Given the description of an element on the screen output the (x, y) to click on. 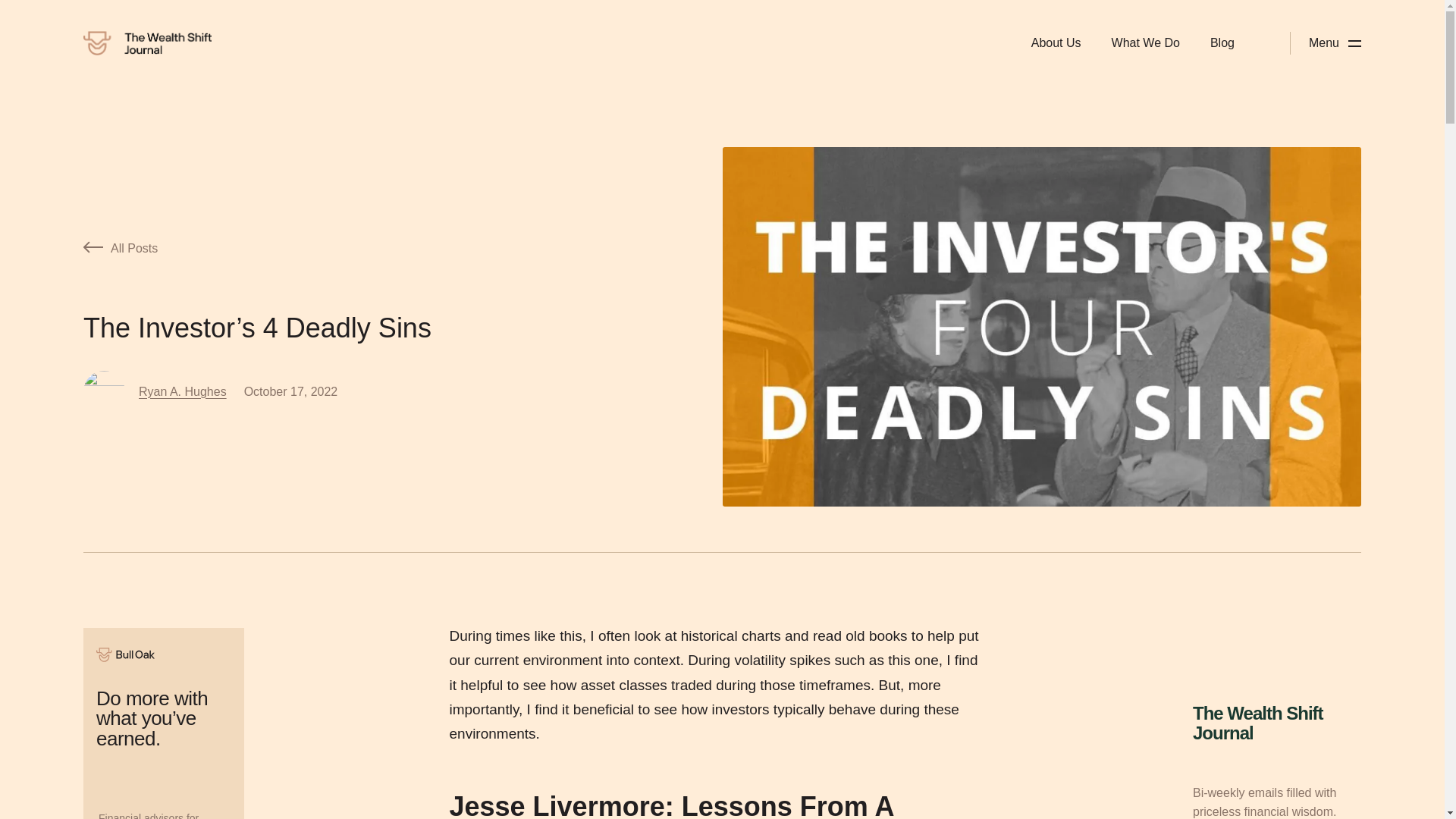
What We Do (1145, 42)
Ryan A. Hughes (182, 391)
All Posts (352, 247)
Menu (1334, 42)
Blog (1221, 42)
About Us (1055, 42)
